Given the description of an element on the screen output the (x, y) to click on. 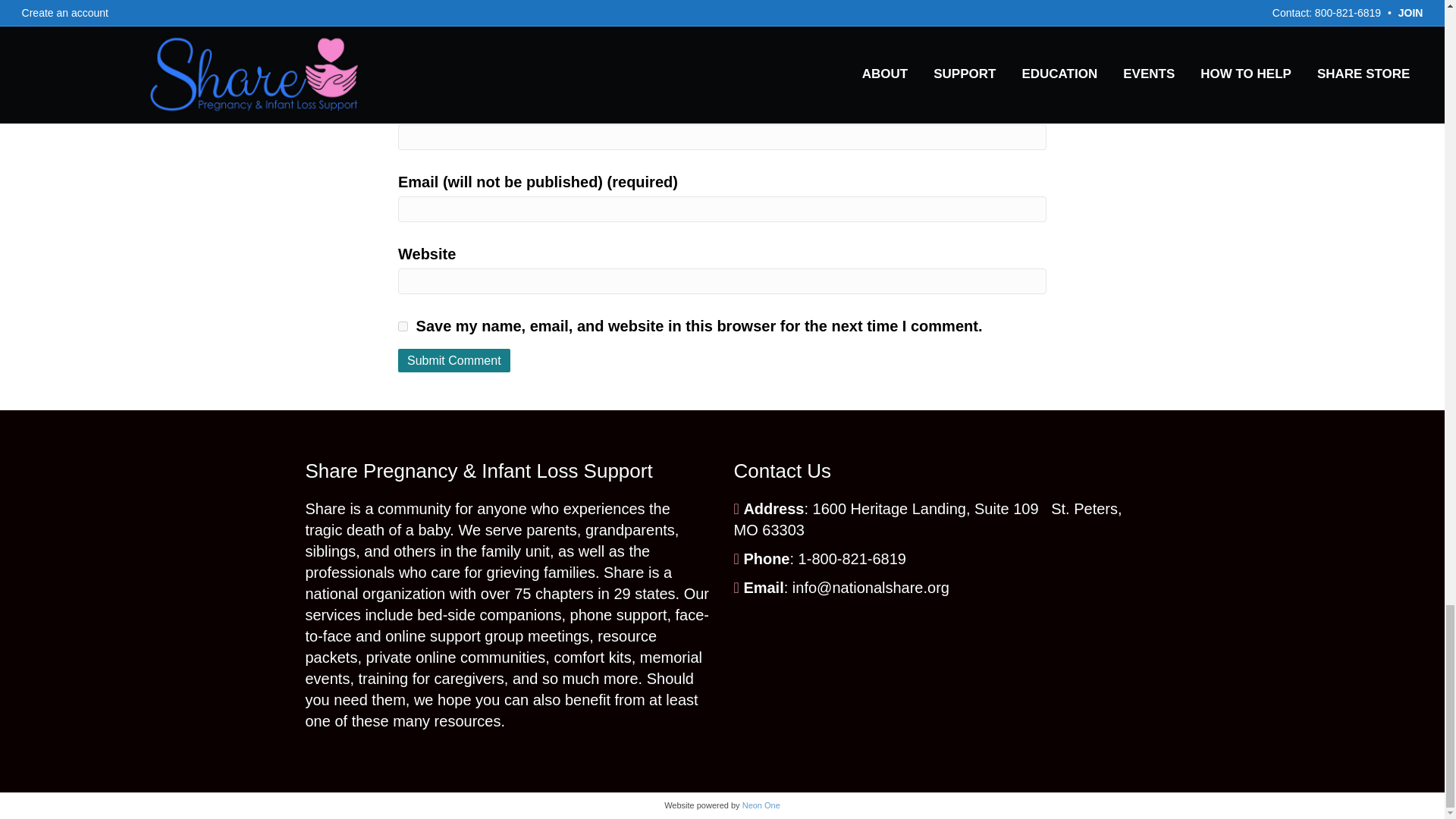
yes (402, 326)
Submit Comment (454, 360)
Neon One (761, 804)
Submit Comment (454, 360)
